Given the description of an element on the screen output the (x, y) to click on. 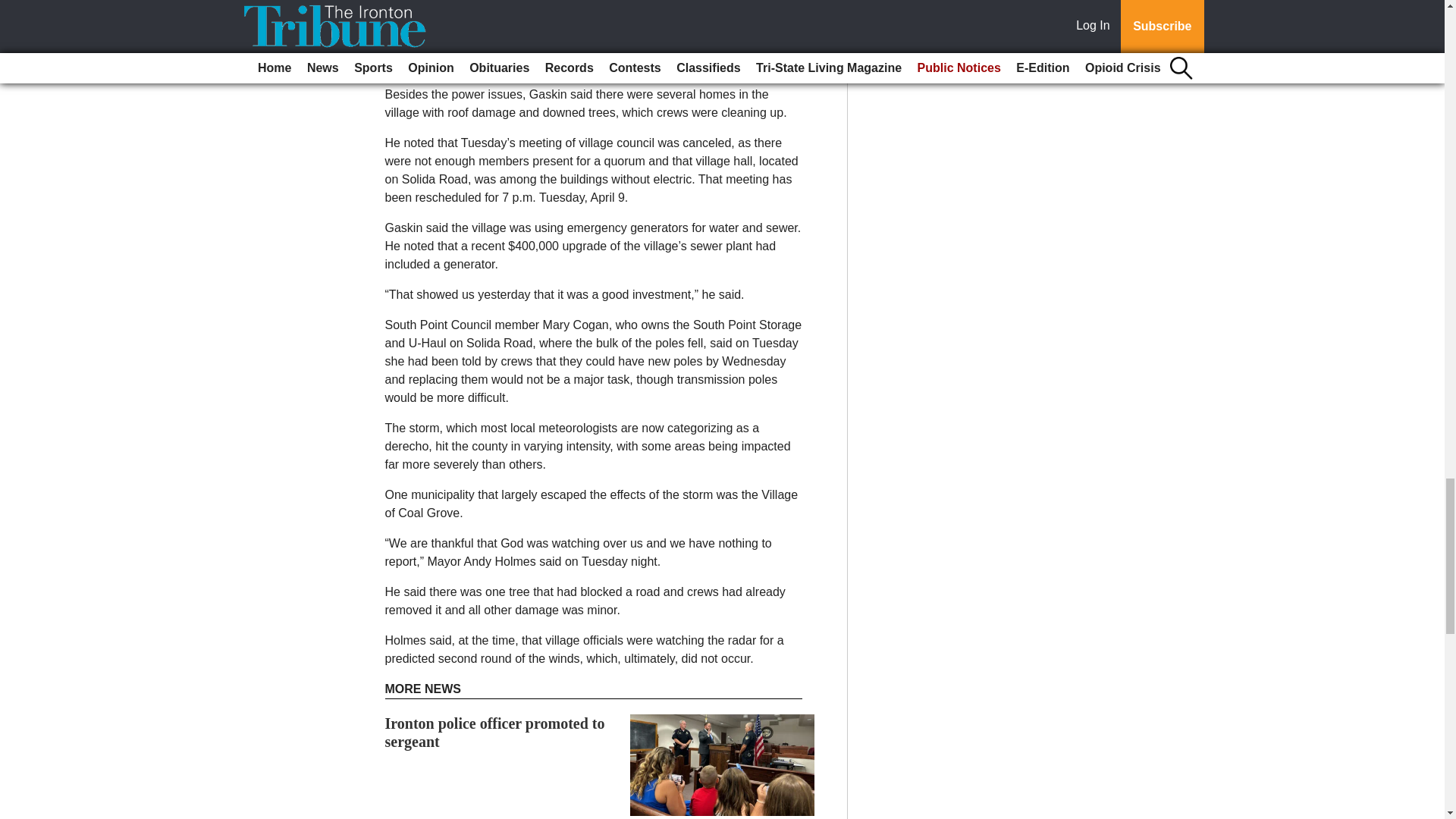
Ironton police officer promoted to sergeant (495, 732)
Ironton police officer promoted to sergeant (495, 732)
